Given the description of an element on the screen output the (x, y) to click on. 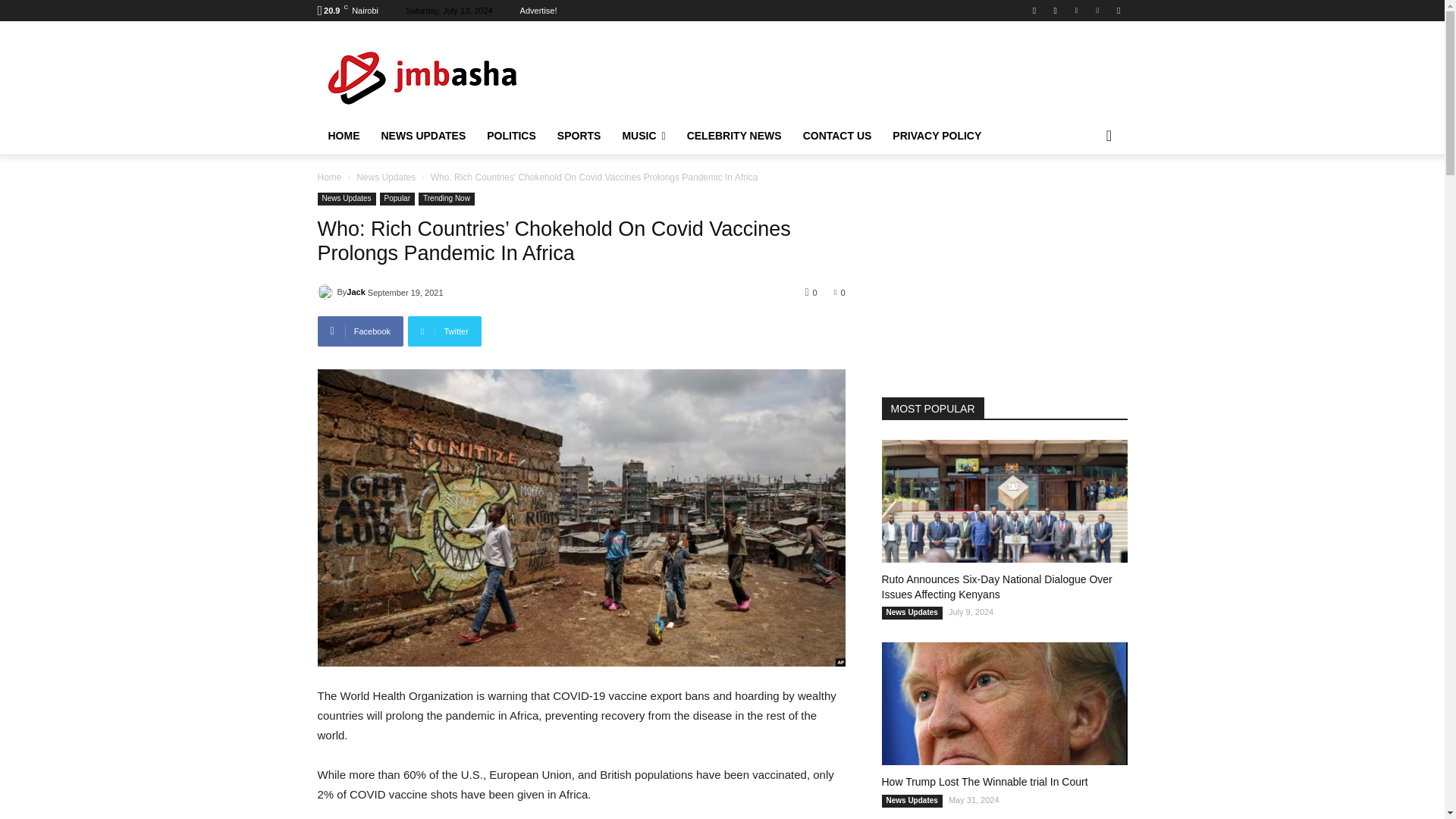
View all posts in News Updates (385, 176)
HOME (343, 135)
Advertise! (538, 10)
Advertisement (848, 74)
NEWS UPDATES (422, 135)
POLITICS (511, 135)
